Given the description of an element on the screen output the (x, y) to click on. 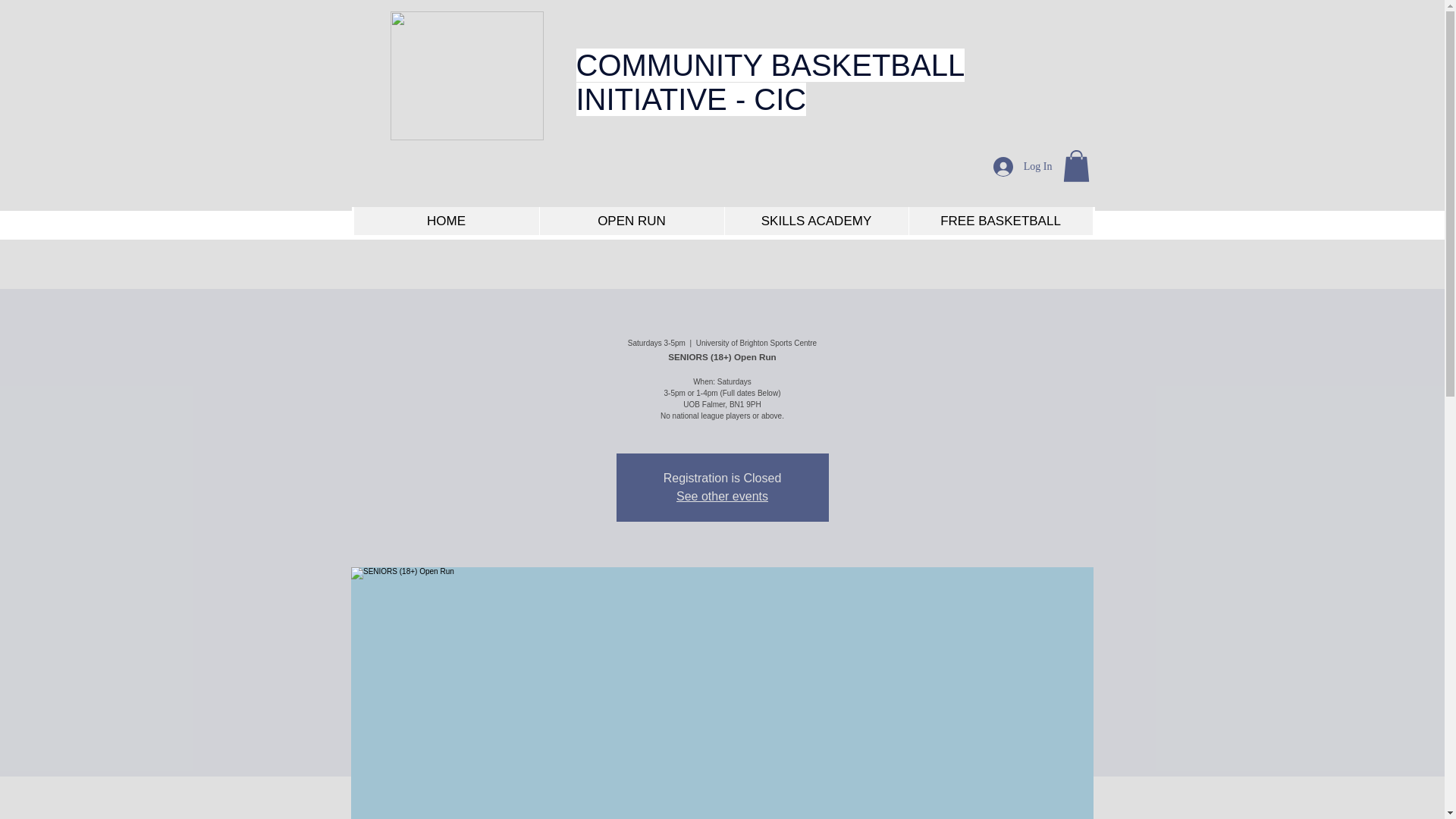
See other events (722, 495)
SKILLS ACADEMY (815, 221)
FREE BASKETBALL (1001, 221)
HOME (444, 221)
Log In (1022, 166)
OPEN RUN (629, 221)
FREE BASKETBALL (1000, 221)
SKILLS ACADEMY (815, 221)
HOME (445, 221)
OPEN RUN (630, 221)
